Given the description of an element on the screen output the (x, y) to click on. 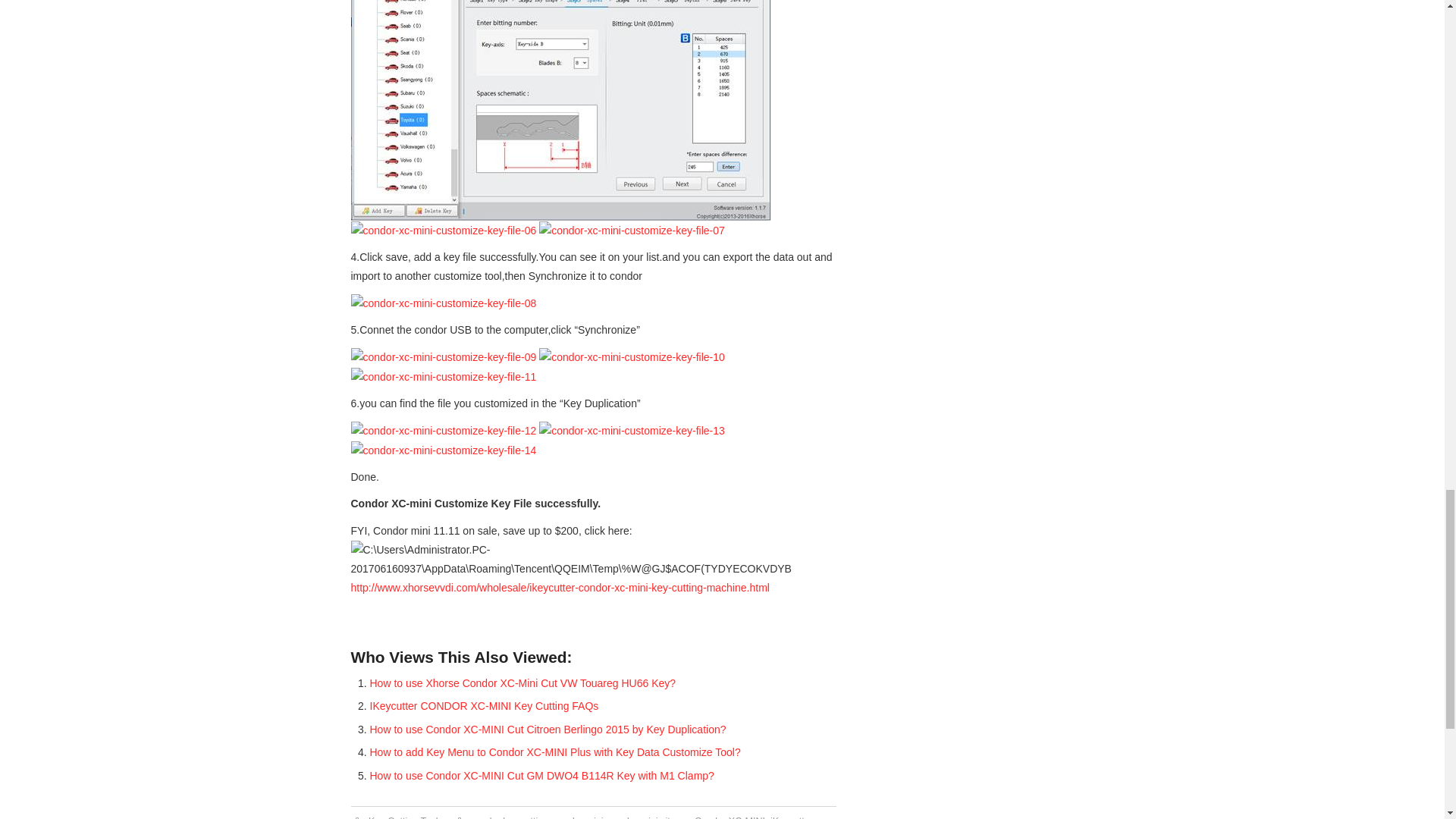
condor-xc-mini-customize-key-file-05  (560, 110)
condor-xc-mini-customize-key-file-08  (442, 303)
condor-xc-mini-customize-key-file-07  (631, 230)
condor-xc-mini-customize-key-file-06  (442, 230)
